Given the description of an element on the screen output the (x, y) to click on. 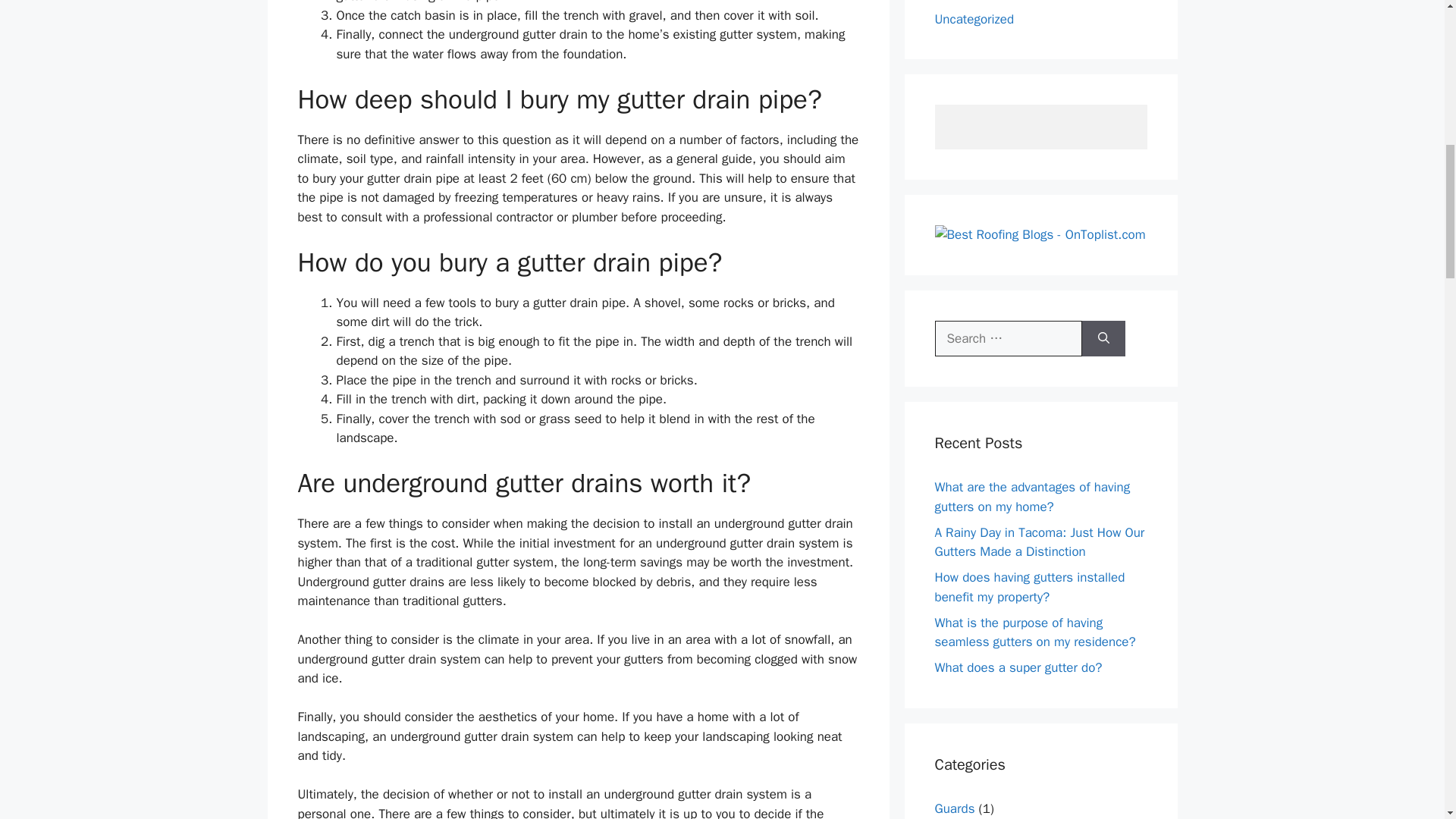
Search for: (1007, 338)
